Given the description of an element on the screen output the (x, y) to click on. 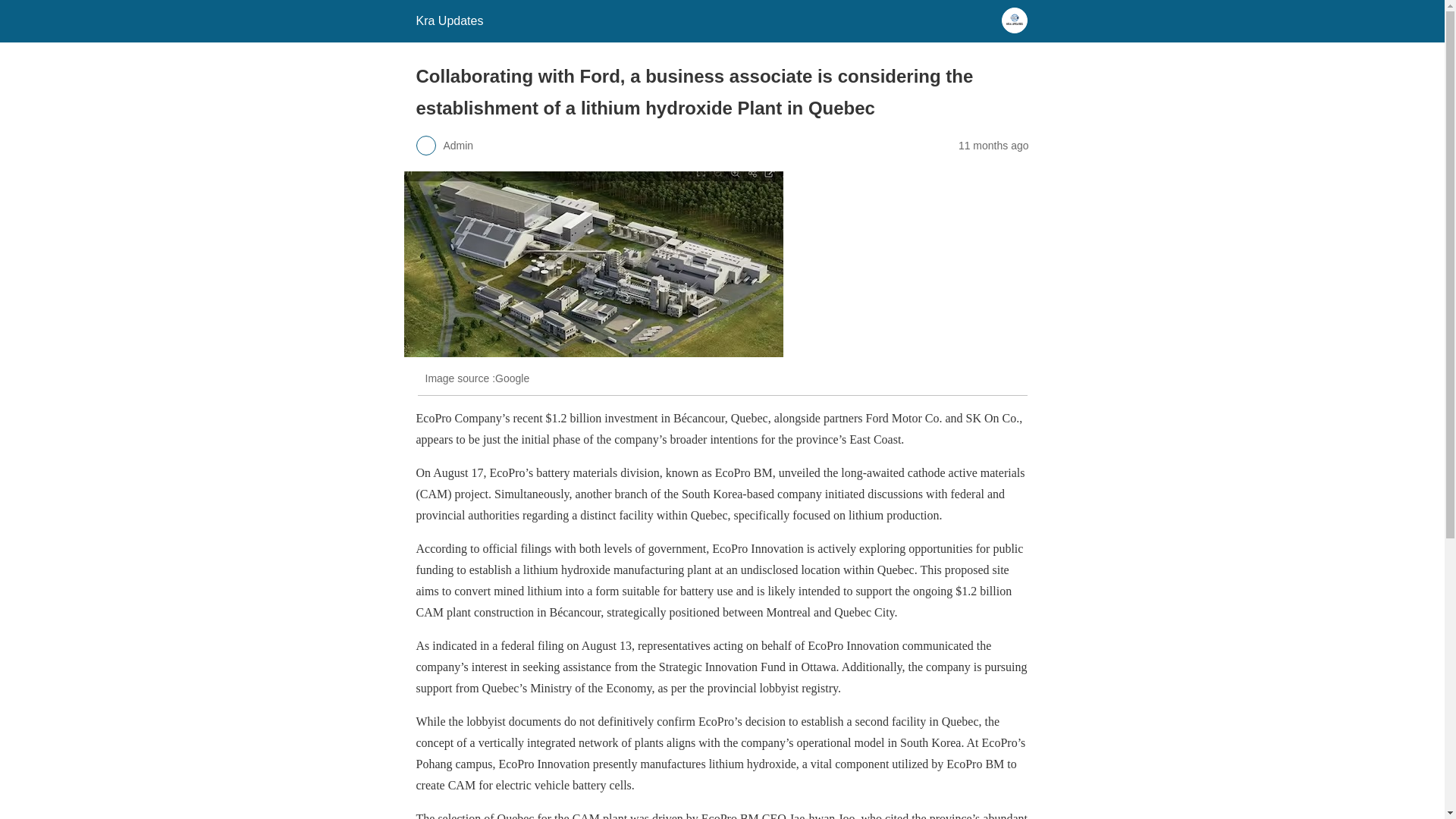
Kra Updates (448, 20)
